Given the description of an element on the screen output the (x, y) to click on. 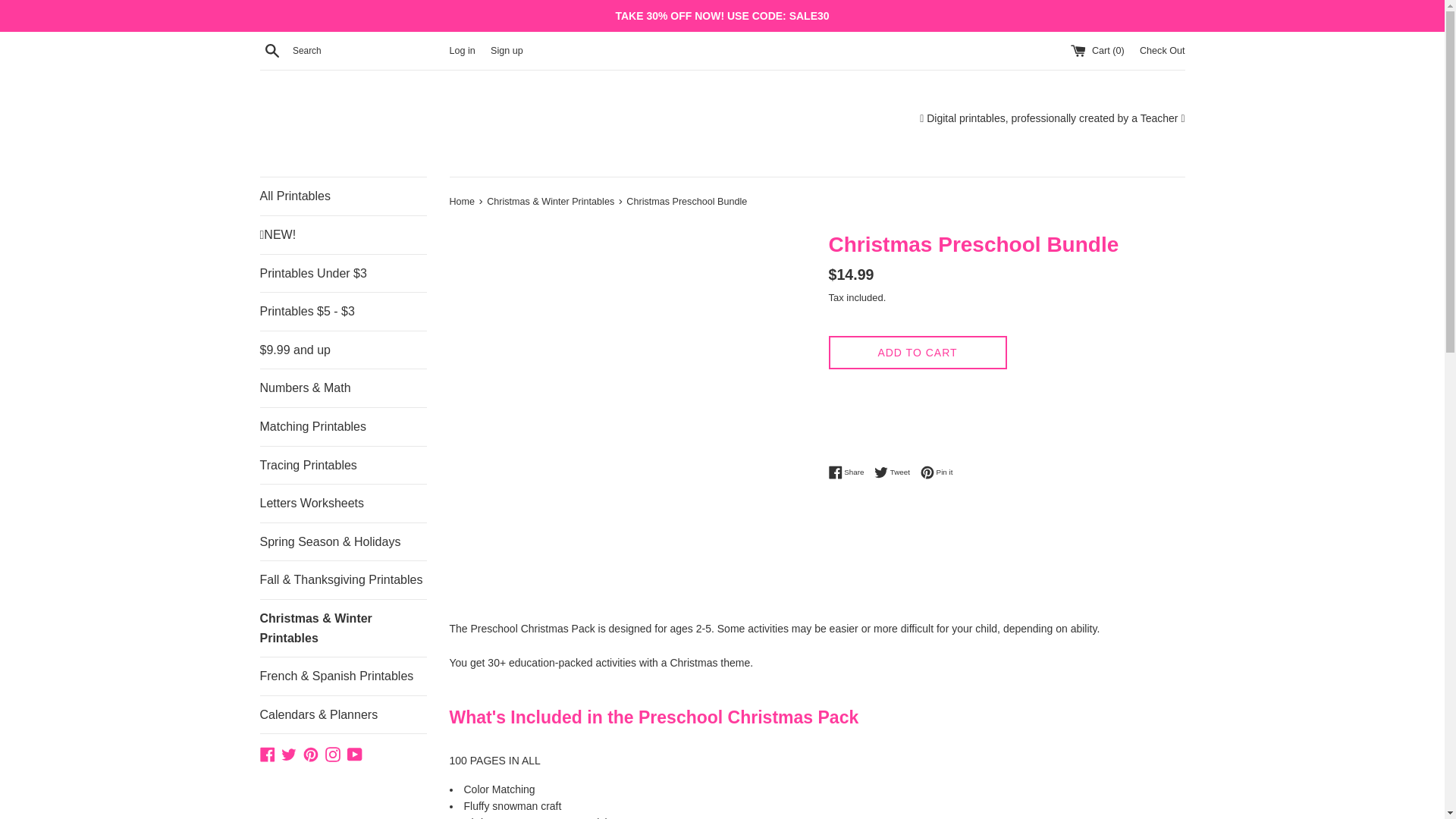
Instagram (332, 752)
Home (462, 201)
Matching Printables (849, 472)
Milestone Mom LLC on YouTube (342, 426)
Check Out (354, 752)
Search (1162, 50)
Sign up (271, 49)
Tweet on Twitter (506, 50)
Share on Facebook (896, 472)
Log in (849, 472)
Pin on Pinterest (461, 50)
Milestone Mom LLC on Instagram (936, 472)
Milestone Mom LLC on Twitter (332, 752)
Letters Worksheets (289, 752)
